Given the description of an element on the screen output the (x, y) to click on. 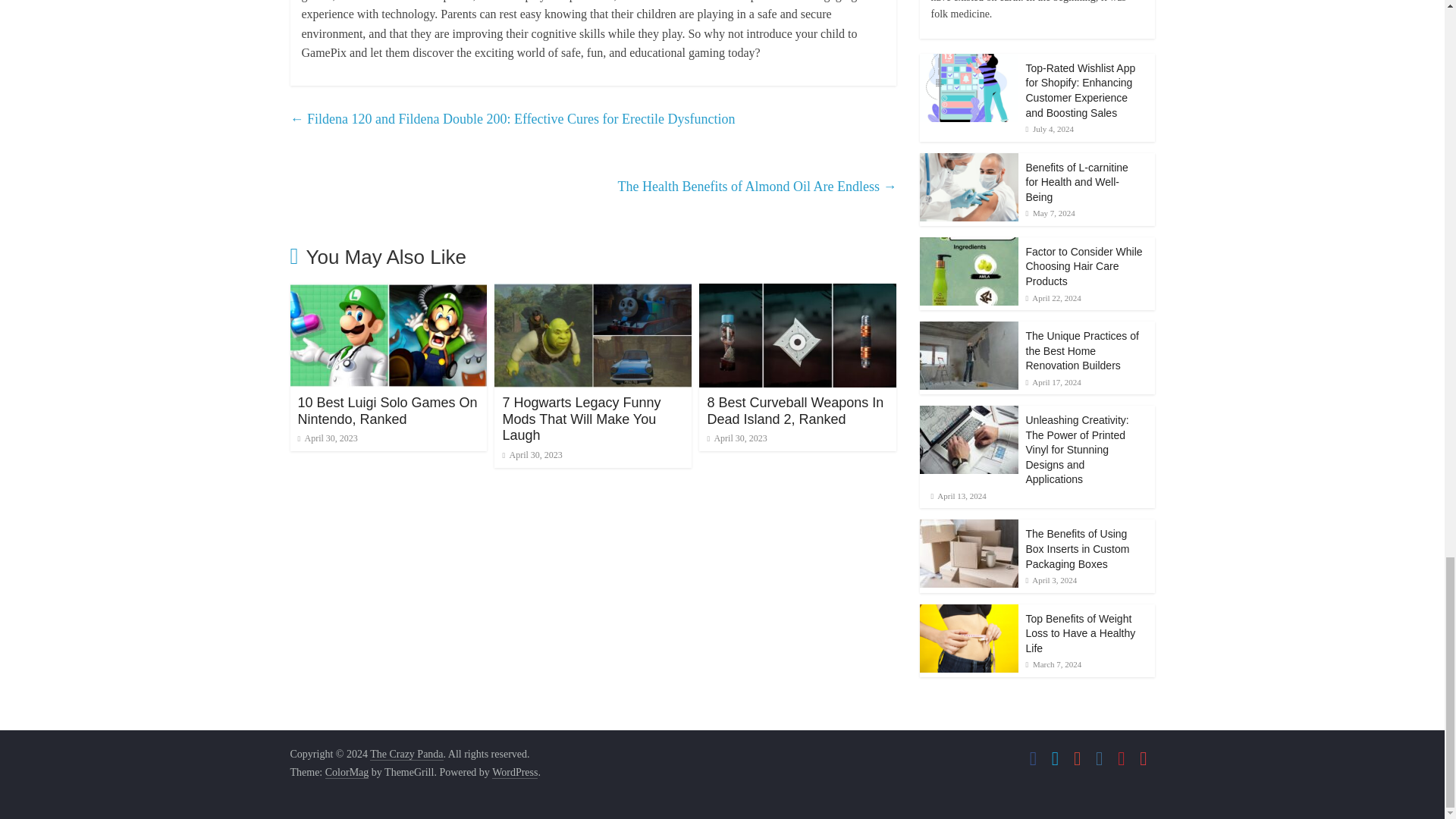
April 30, 2023 (736, 438)
2:38 am (532, 454)
8 Best Curveball Weapons In Dead Island 2, Ranked (794, 410)
10 Best Luigi Solo Games On Nintendo, Ranked (387, 410)
3:45 am (326, 438)
8 Best Curveball Weapons In Dead Island 2, Ranked (794, 410)
10 Best Luigi Solo Games On Nintendo, Ranked (387, 292)
April 30, 2023 (326, 438)
7 Hogwarts Legacy Funny Mods That Will Make You Laugh (593, 292)
April 30, 2023 (532, 454)
